Given the description of an element on the screen output the (x, y) to click on. 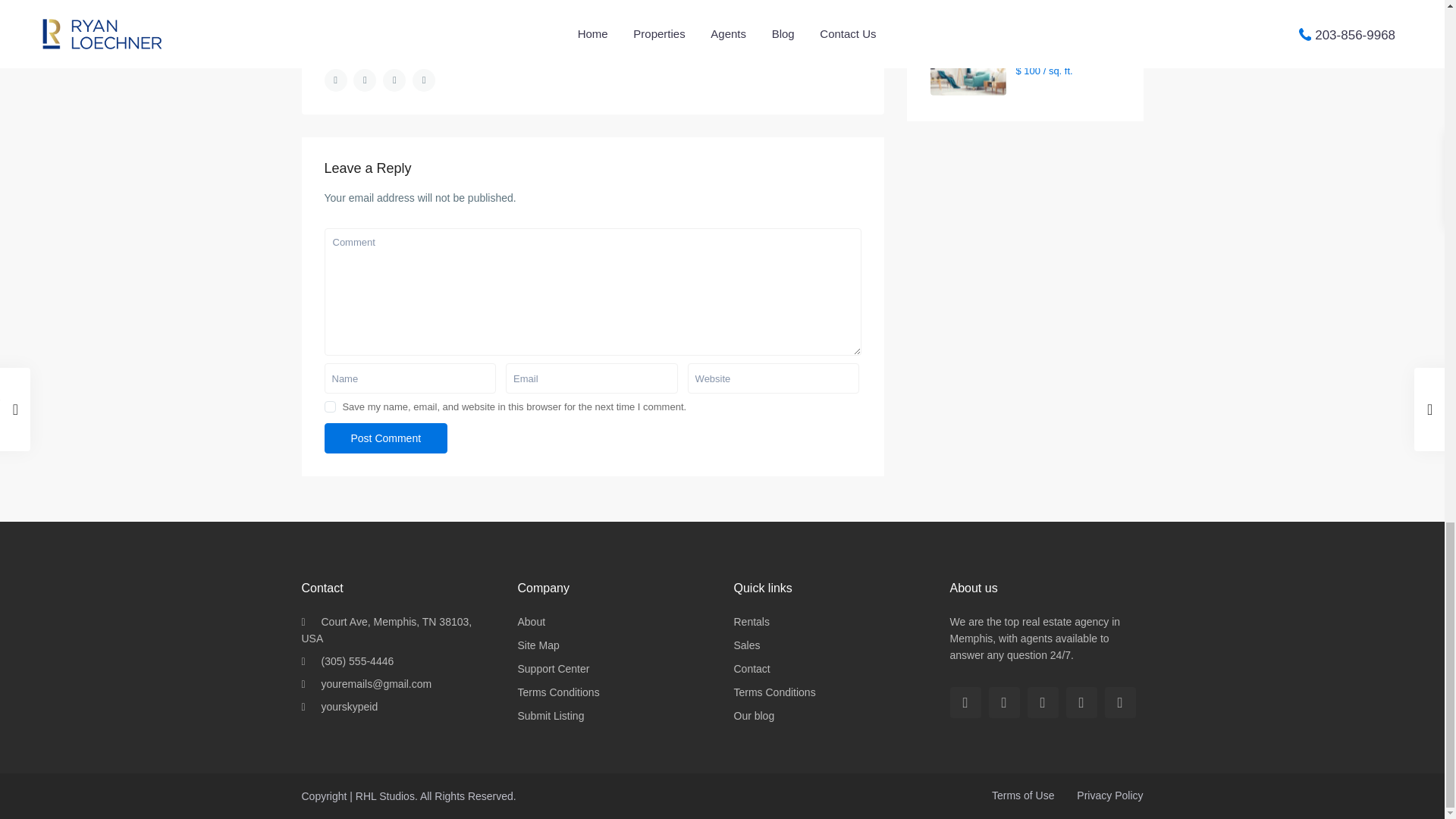
yes (330, 406)
Post Comment (386, 438)
